Given the description of an element on the screen output the (x, y) to click on. 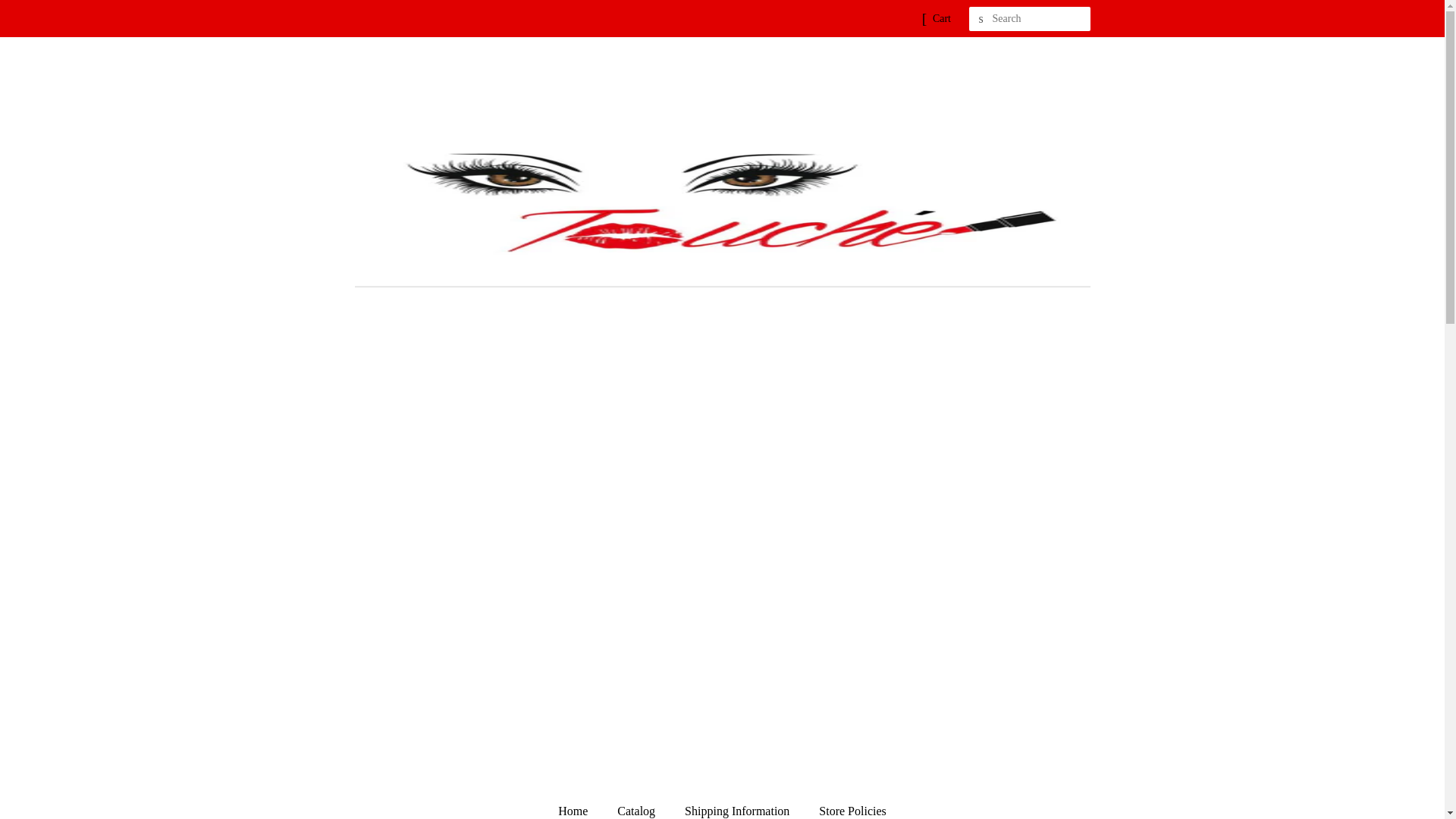
Search (980, 18)
Catalog (637, 807)
Cart (941, 18)
Store Policies (846, 807)
Home (579, 807)
Shipping Information (738, 807)
